Given the description of an element on the screen output the (x, y) to click on. 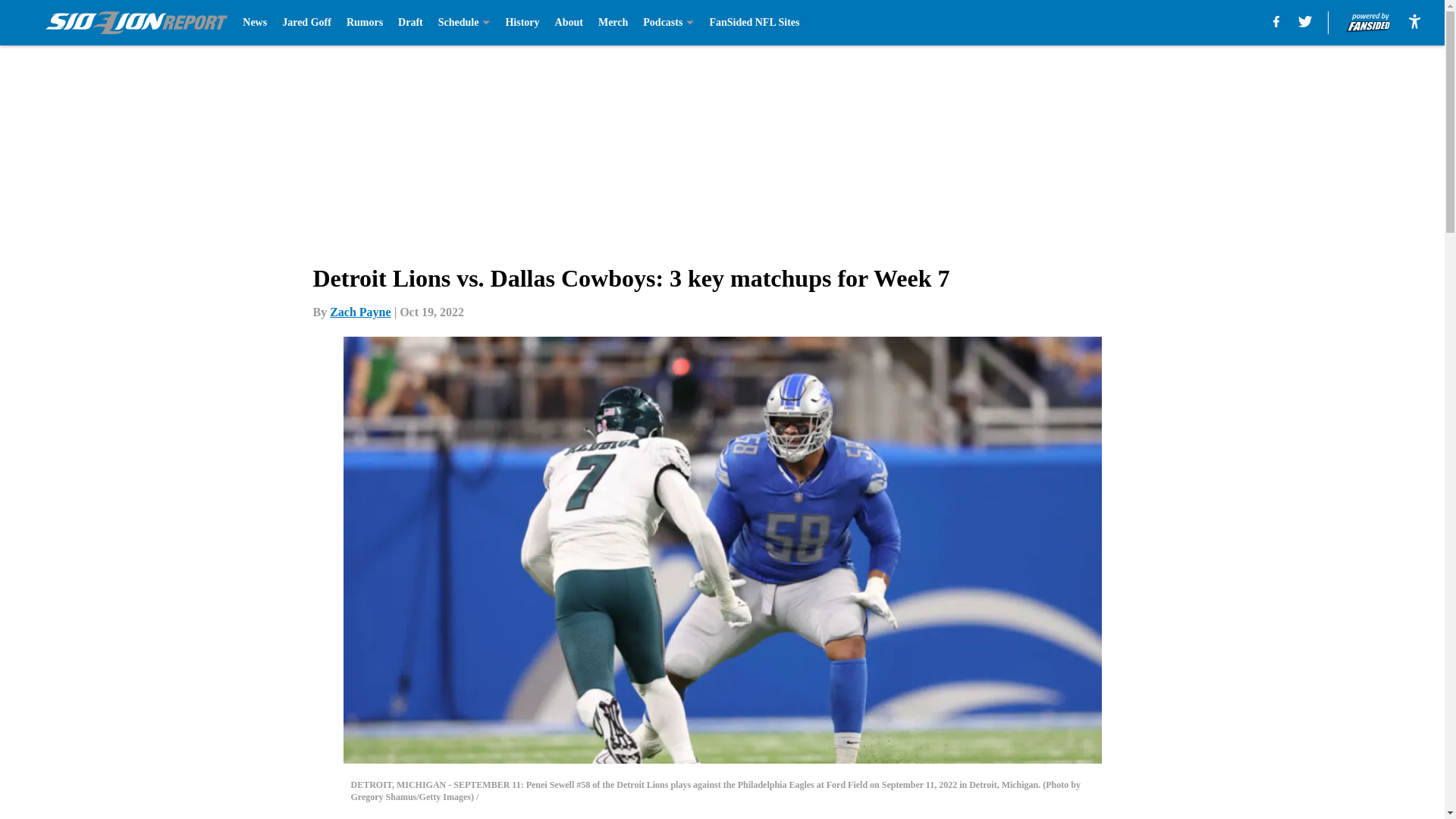
Merch (612, 22)
Zach Payne (360, 311)
News (254, 22)
Jared Goff (306, 22)
History (521, 22)
FanSided NFL Sites (754, 22)
Rumors (364, 22)
About (568, 22)
Draft (410, 22)
